Given the description of an element on the screen output the (x, y) to click on. 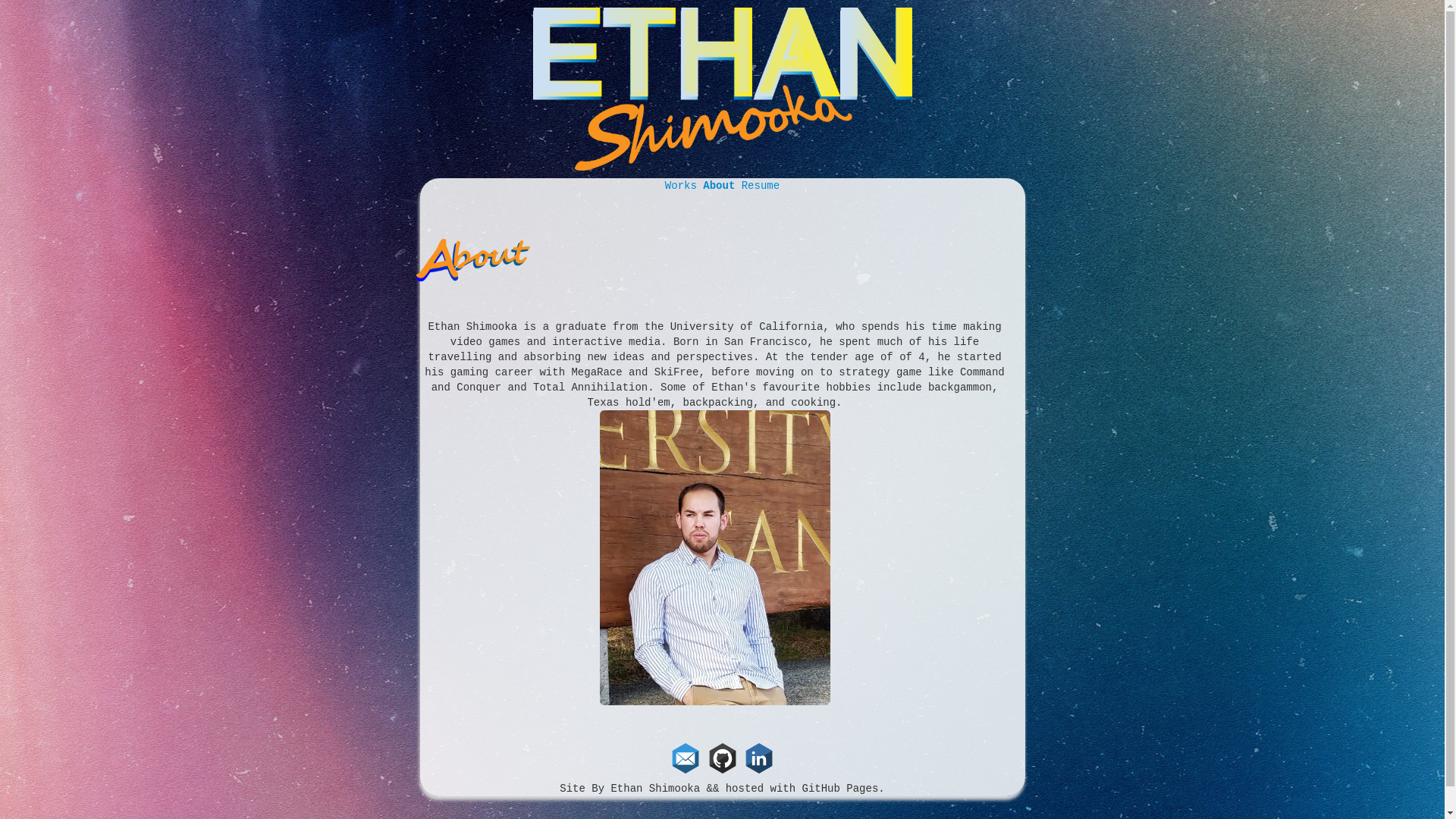
Works (684, 185)
About (722, 185)
Resume (759, 185)
